Given the description of an element on the screen output the (x, y) to click on. 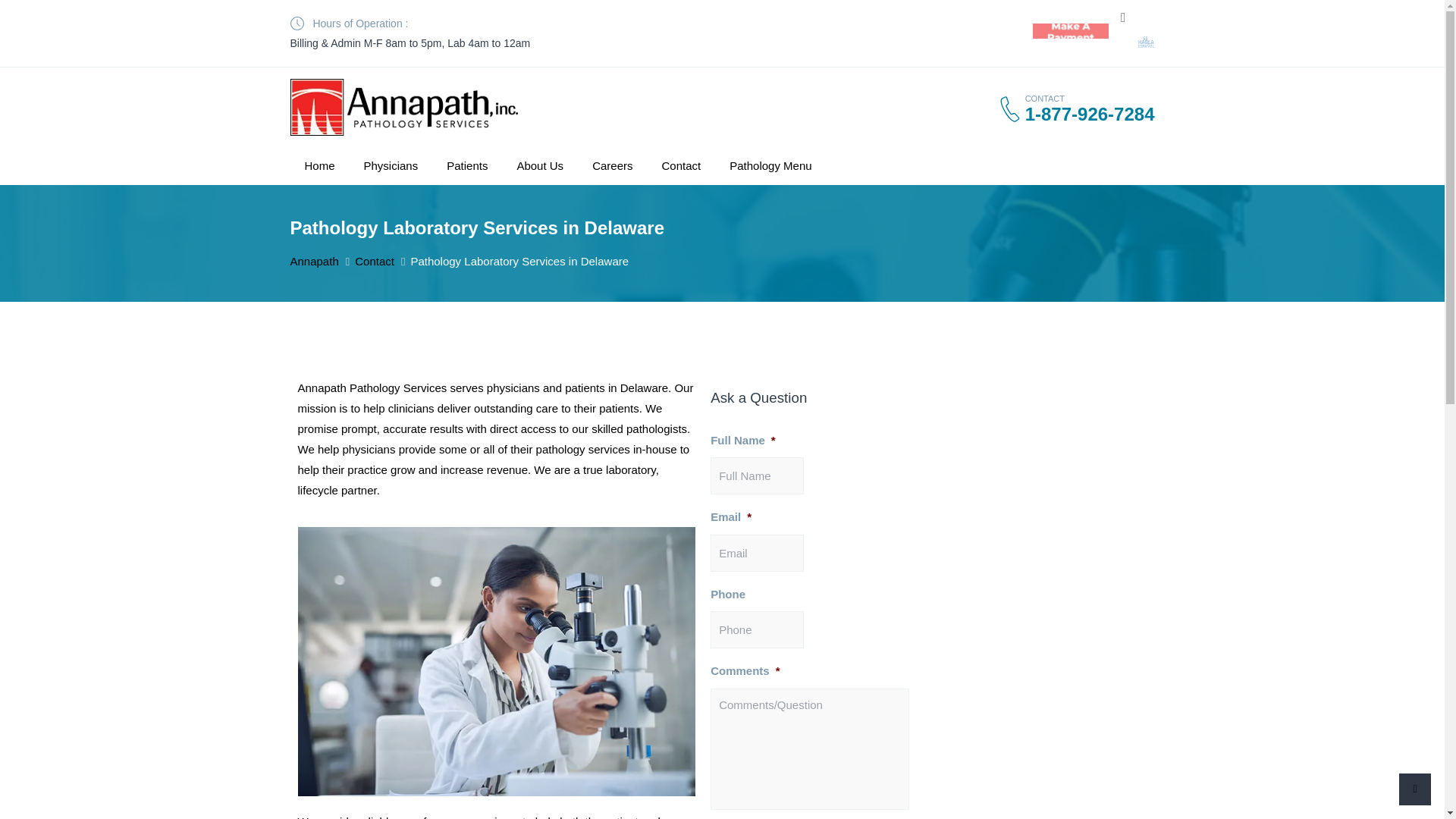
About Us (540, 165)
Physicians (390, 165)
Careers (612, 165)
Pathology Menu (769, 165)
Patients (467, 165)
Annapath (313, 260)
Contact (680, 165)
Contact (374, 260)
Home (319, 165)
